Given the description of an element on the screen output the (x, y) to click on. 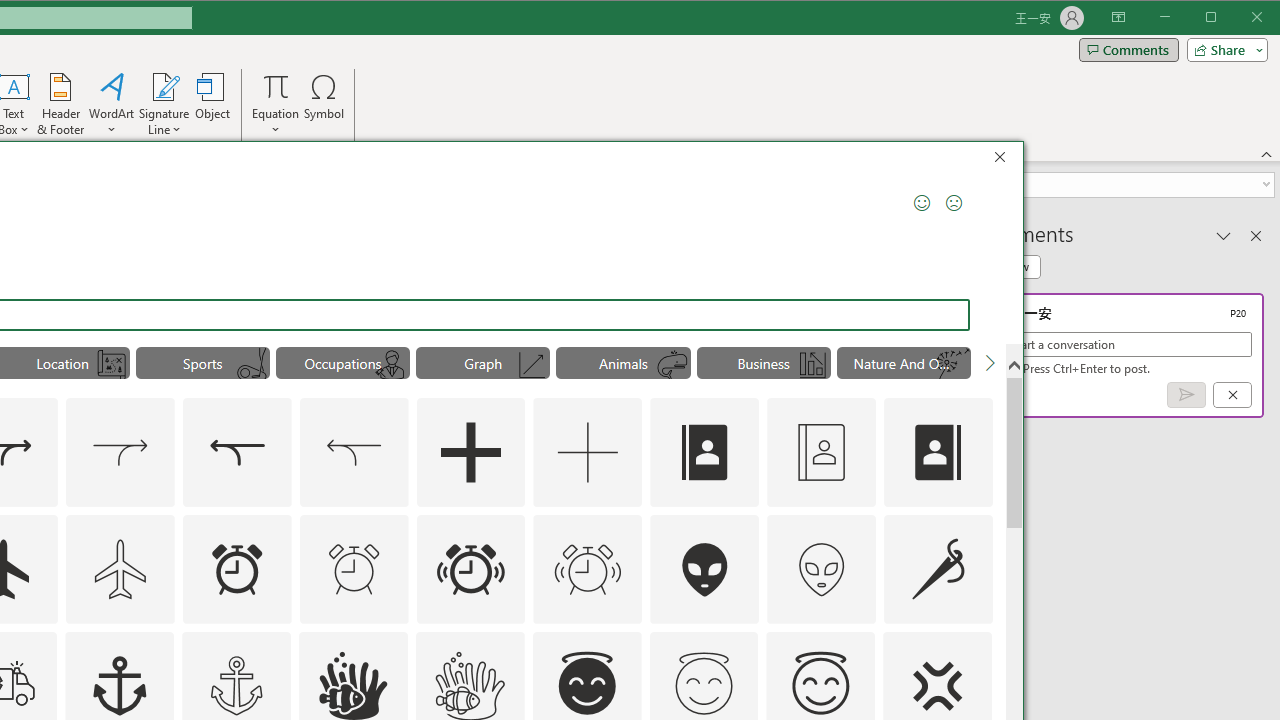
Equation (275, 86)
Signature Line (164, 104)
"Graph" Icons. (483, 362)
AutomationID: _134_Angel_Face_A (587, 683)
AutomationID: Icons_TreasureMap_M (111, 365)
Next Search Suggestion (990, 362)
Send a Frown (954, 202)
"Animals" Icons. (623, 362)
Thumbnail (977, 646)
